Given the description of an element on the screen output the (x, y) to click on. 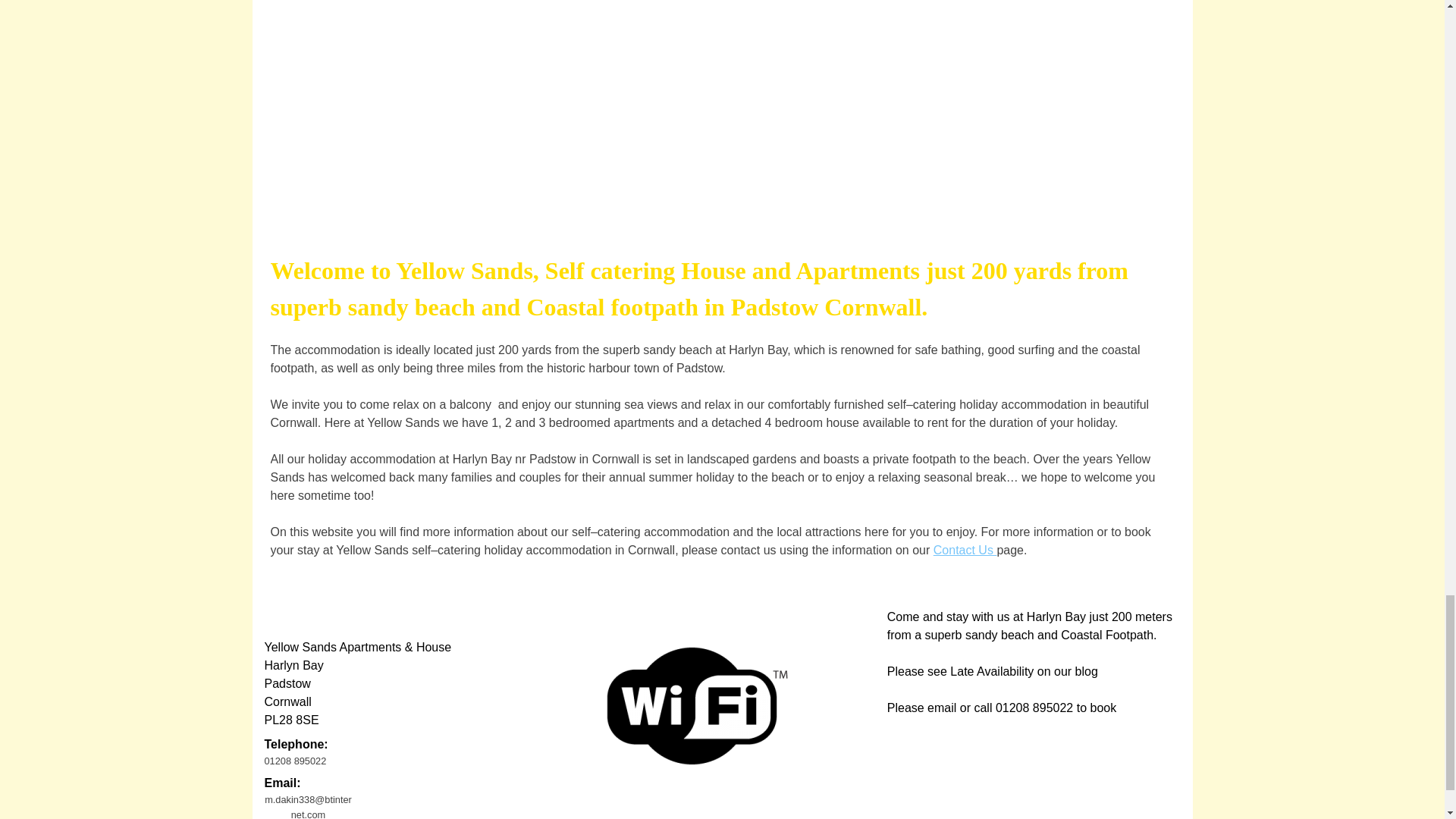
Contact Us (965, 549)
Contact Us (965, 549)
Facebook (282, 608)
01208 895022 (307, 760)
